Given the description of an element on the screen output the (x, y) to click on. 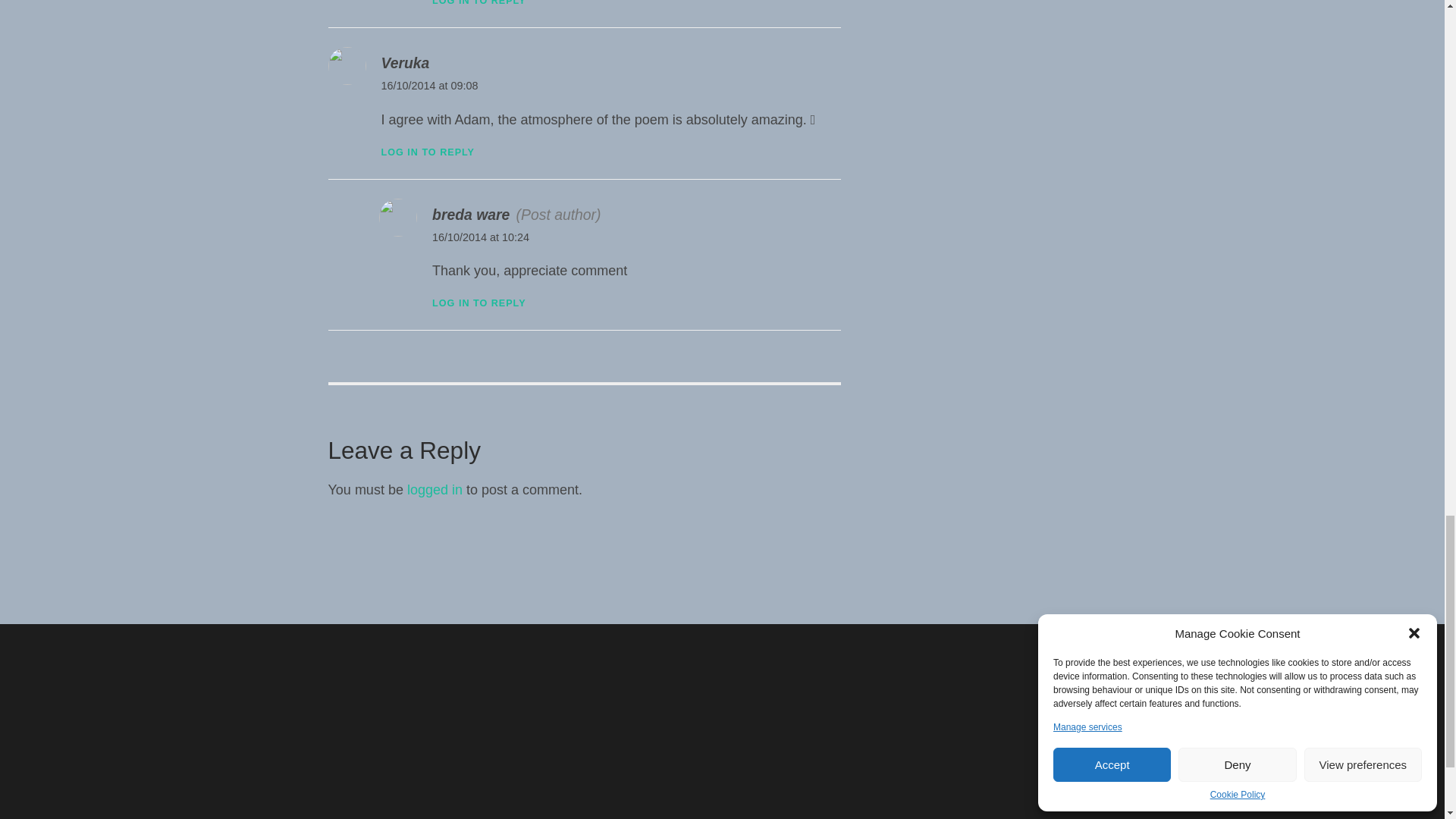
LOG IN TO REPLY (478, 2)
LOG IN TO REPLY (427, 152)
